Given the description of an element on the screen output the (x, y) to click on. 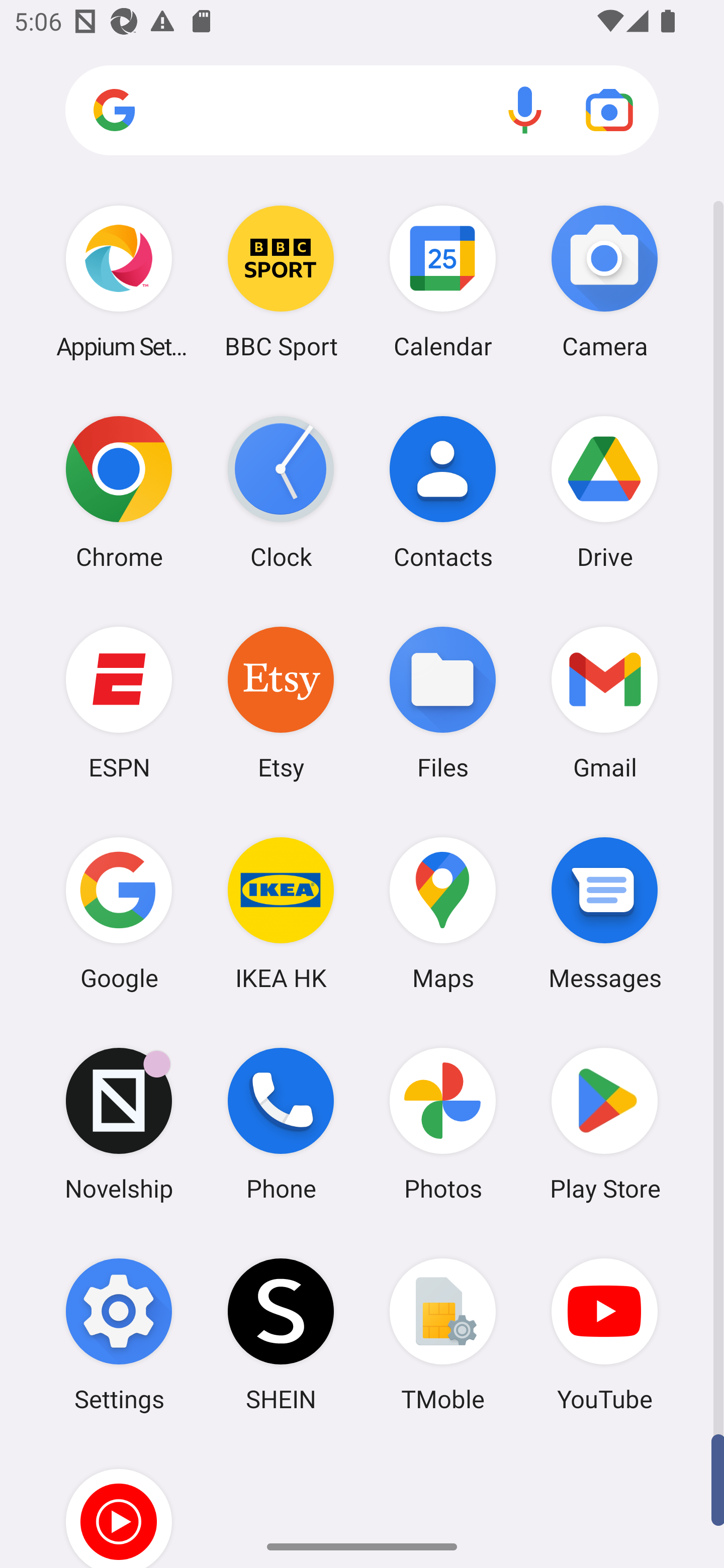
Search apps, web and more (361, 110)
Voice search (524, 109)
Google Lens (608, 109)
Appium Settings (118, 281)
BBC Sport (280, 281)
Calendar (443, 281)
Camera (604, 281)
Chrome (118, 492)
Clock (280, 492)
Contacts (443, 492)
Drive (604, 492)
ESPN (118, 702)
Etsy (280, 702)
Files (443, 702)
Gmail (604, 702)
Google (118, 913)
IKEA HK (280, 913)
Maps (443, 913)
Messages (604, 913)
Novelship Novelship has 1 notification (118, 1124)
Phone (280, 1124)
Photos (443, 1124)
Play Store (604, 1124)
Settings (118, 1334)
SHEIN (280, 1334)
TMoble (443, 1334)
YouTube (604, 1334)
YT Music (118, 1503)
